Given the description of an element on the screen output the (x, y) to click on. 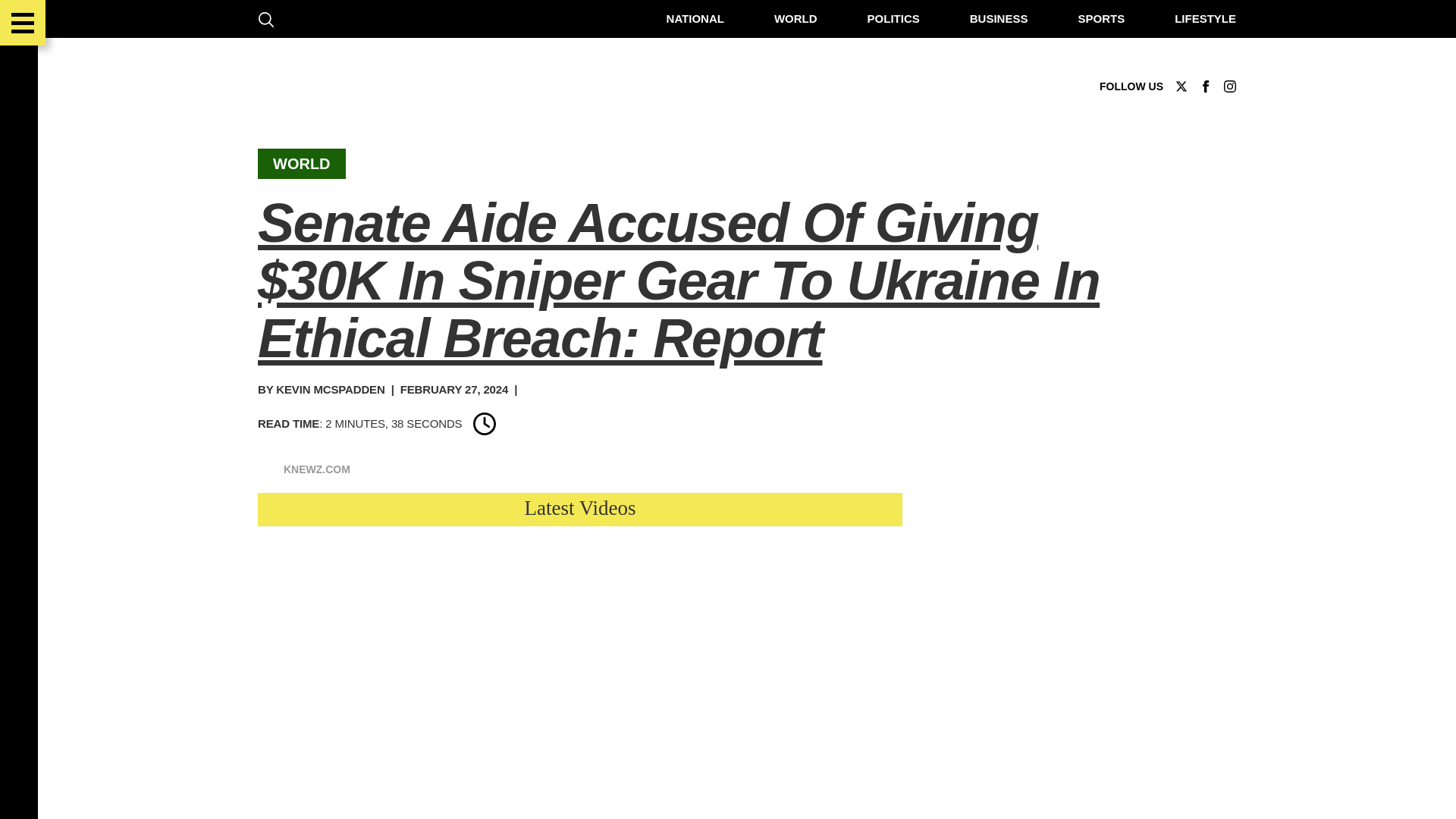
BUSINESS (998, 18)
POLITICS (893, 18)
SPORTS (1100, 18)
LIFESTYLE (1205, 18)
WORLD (301, 163)
WORLD (795, 18)
NATIONAL (694, 18)
FEBRUARY 27, 2024 (454, 389)
KEVIN MCSPADDEN (330, 389)
